Given the description of an element on the screen output the (x, y) to click on. 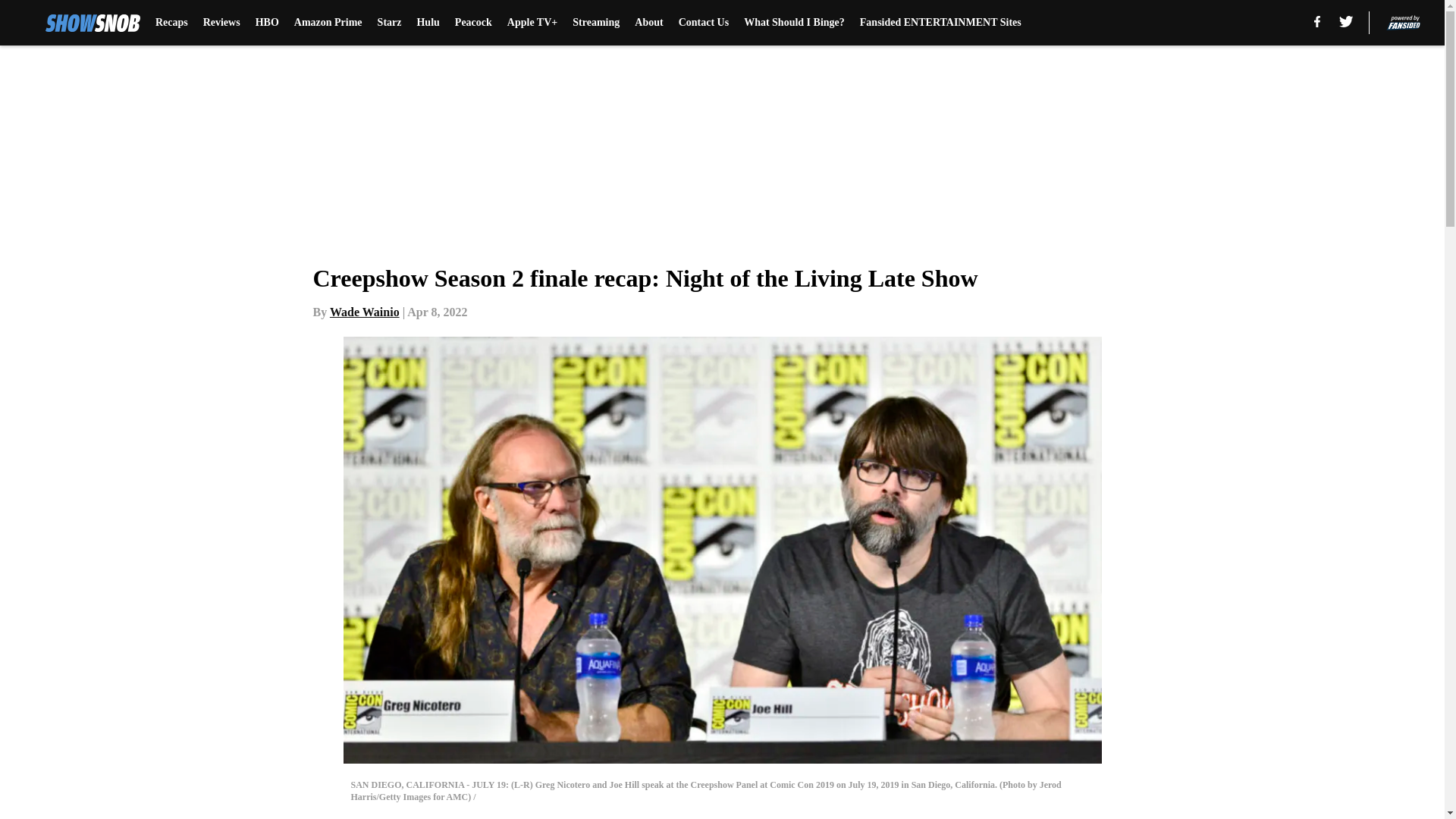
Hulu (427, 22)
Wade Wainio (364, 311)
Recaps (171, 22)
Contact Us (703, 22)
Amazon Prime (328, 22)
Starz (389, 22)
Fansided ENTERTAINMENT Sites (941, 22)
What Should I Binge? (794, 22)
Reviews (221, 22)
About (648, 22)
